Given the description of an element on the screen output the (x, y) to click on. 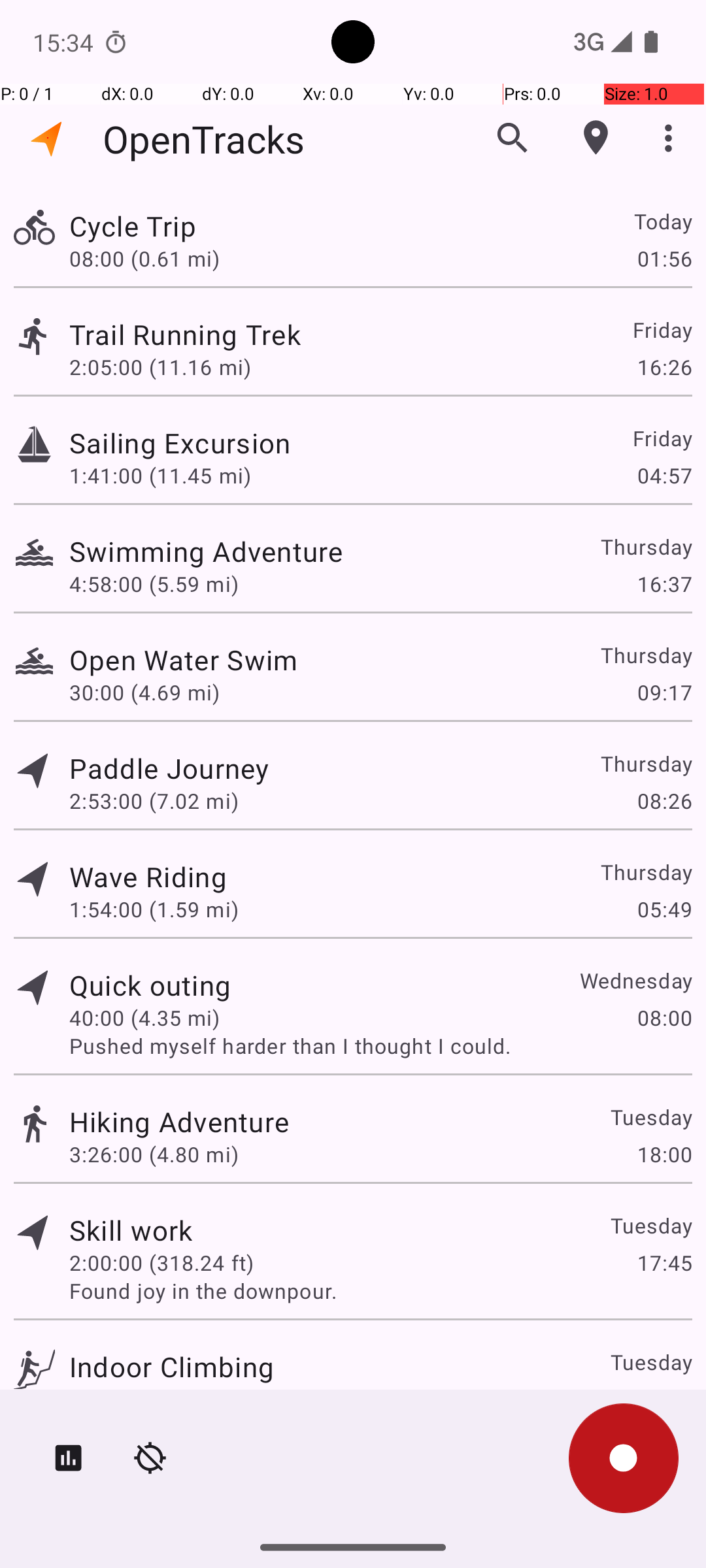
08:00 (0.61 mi) Element type: android.widget.TextView (144, 258)
01:56 Element type: android.widget.TextView (664, 258)
Trail Running Trek Element type: android.widget.TextView (184, 333)
2:05:00 (11.16 mi) Element type: android.widget.TextView (159, 366)
16:26 Element type: android.widget.TextView (664, 366)
Sailing Excursion Element type: android.widget.TextView (179, 442)
1:41:00 (11.45 mi) Element type: android.widget.TextView (159, 475)
04:57 Element type: android.widget.TextView (664, 475)
Swimming Adventure Element type: android.widget.TextView (205, 550)
4:58:00 (5.59 mi) Element type: android.widget.TextView (153, 583)
16:37 Element type: android.widget.TextView (664, 583)
Open Water Swim Element type: android.widget.TextView (183, 659)
30:00 (4.69 mi) Element type: android.widget.TextView (144, 692)
09:17 Element type: android.widget.TextView (664, 692)
Paddle Journey Element type: android.widget.TextView (168, 767)
2:53:00 (7.02 mi) Element type: android.widget.TextView (153, 800)
08:26 Element type: android.widget.TextView (664, 800)
Wave Riding Element type: android.widget.TextView (147, 876)
1:54:00 (1.59 mi) Element type: android.widget.TextView (153, 909)
05:49 Element type: android.widget.TextView (664, 909)
Quick outing Element type: android.widget.TextView (149, 984)
40:00 (4.35 mi) Element type: android.widget.TextView (144, 1017)
Pushed myself harder than I thought I could. Element type: android.widget.TextView (380, 1045)
Hiking Adventure Element type: android.widget.TextView (178, 1121)
3:26:00 (4.80 mi) Element type: android.widget.TextView (153, 1154)
Skill work Element type: android.widget.TextView (130, 1229)
2:00:00 (318.24 ft) Element type: android.widget.TextView (161, 1262)
17:45 Element type: android.widget.TextView (664, 1262)
Found joy in the downpour. Element type: android.widget.TextView (380, 1290)
Indoor Climbing Element type: android.widget.TextView (171, 1366)
3:18:00 (1.81 mi) Element type: android.widget.TextView (153, 1399)
15:28 Element type: android.widget.TextView (664, 1399)
